Given the description of an element on the screen output the (x, y) to click on. 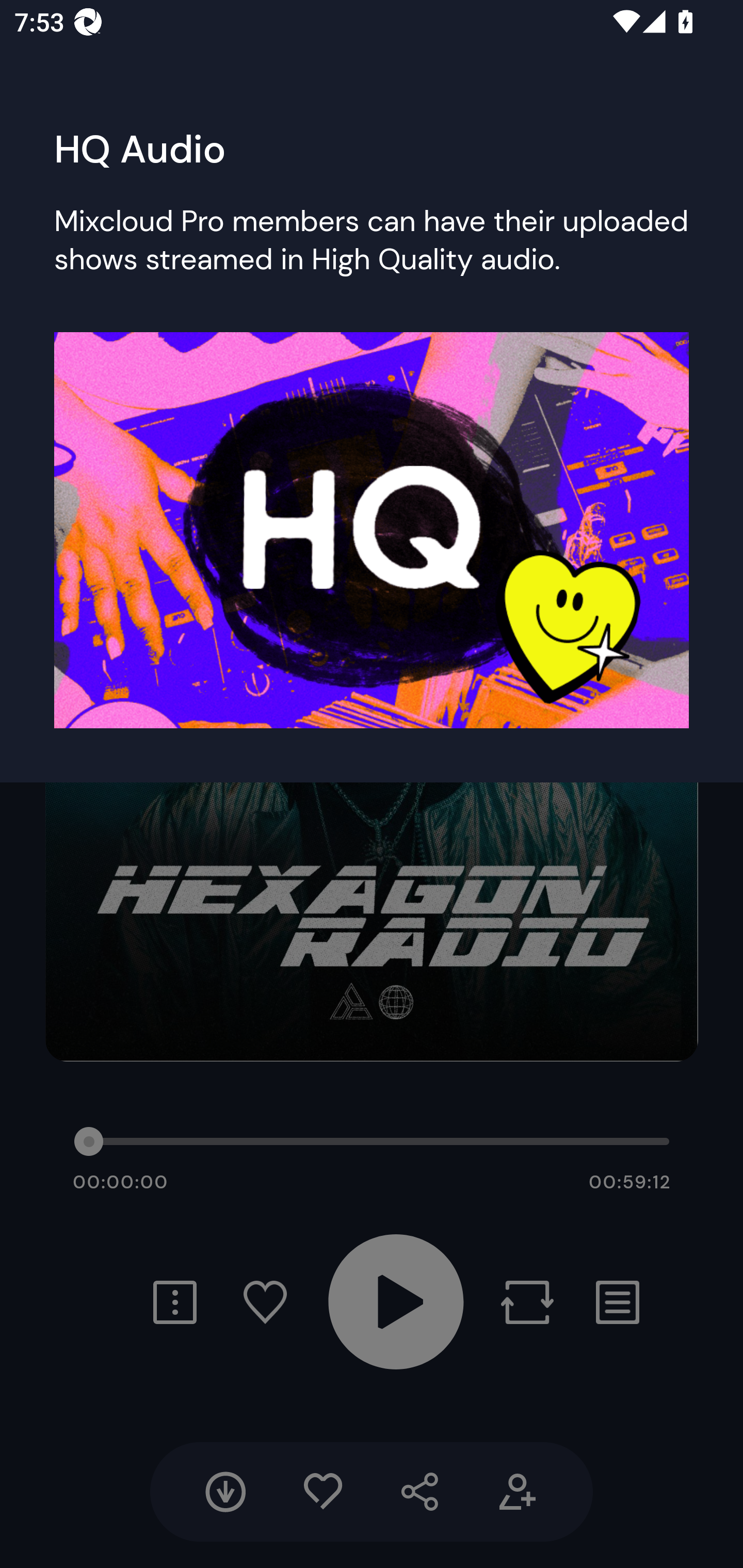
Repost button (527, 1301)
